Given the description of an element on the screen output the (x, y) to click on. 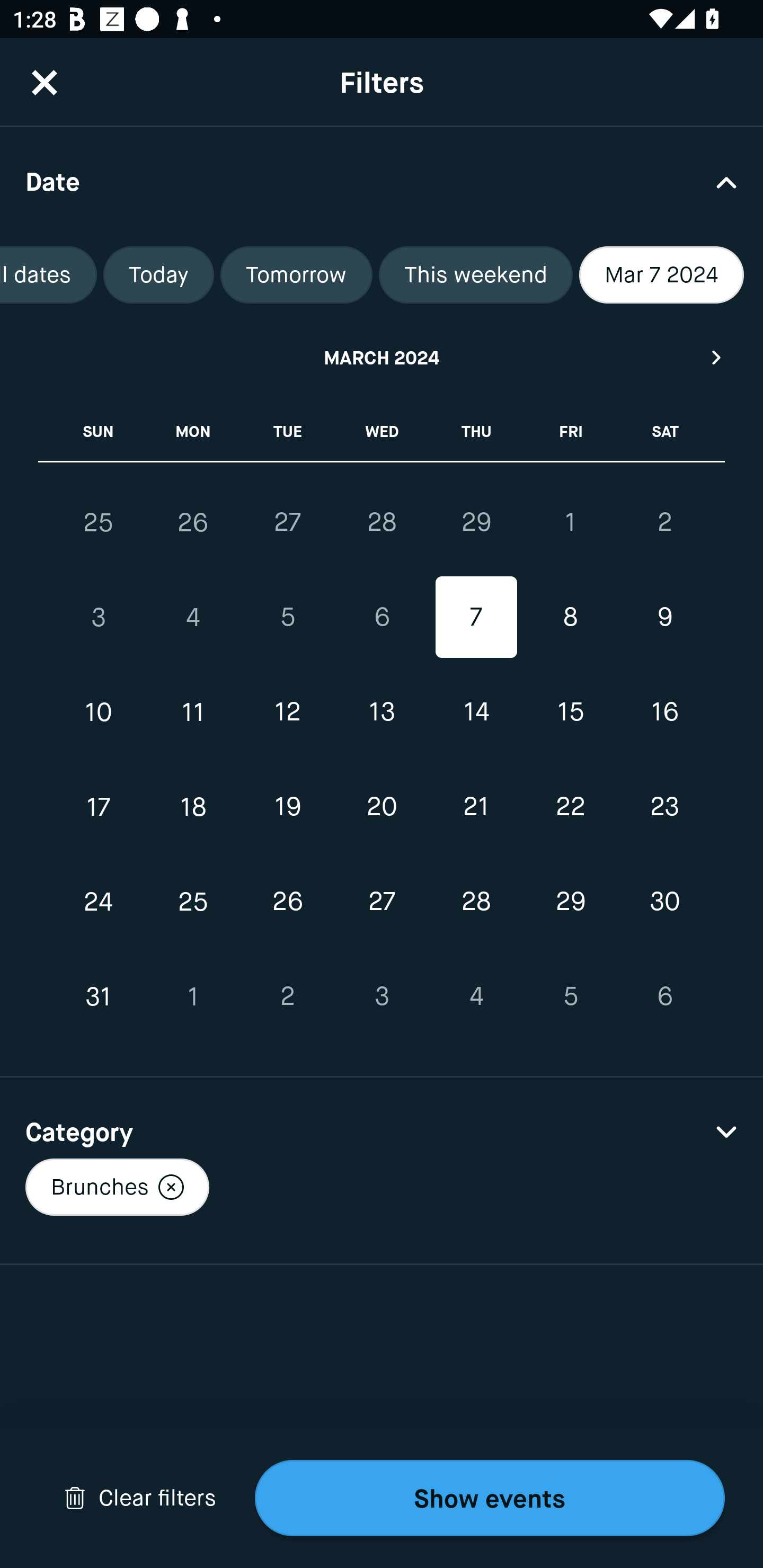
CloseButton (44, 82)
Date Drop Down Arrow (381, 181)
Today (158, 274)
Tomorrow (296, 274)
This weekend (476, 274)
Mar 7 2024 (661, 274)
Next (717, 357)
25 (98, 522)
26 (192, 522)
27 (287, 522)
28 (381, 522)
29 (475, 522)
1 (570, 522)
2 (664, 522)
3 (98, 617)
4 (192, 617)
5 (287, 617)
6 (381, 617)
7 (475, 617)
8 (570, 617)
9 (664, 617)
10 (98, 711)
11 (192, 711)
12 (287, 711)
13 (381, 711)
14 (475, 711)
15 (570, 711)
16 (664, 711)
17 (98, 806)
18 (192, 806)
19 (287, 806)
20 (381, 806)
21 (475, 806)
22 (570, 806)
23 (664, 806)
24 (98, 901)
25 (192, 901)
26 (287, 901)
27 (381, 901)
28 (475, 901)
29 (570, 901)
30 (664, 901)
31 (98, 996)
1 (192, 996)
2 (287, 996)
3 (381, 996)
4 (475, 996)
5 (570, 996)
6 (664, 996)
Brunches Localized description (117, 1186)
Drop Down Arrow Clear filters (139, 1497)
Show events (489, 1497)
